Given the description of an element on the screen output the (x, y) to click on. 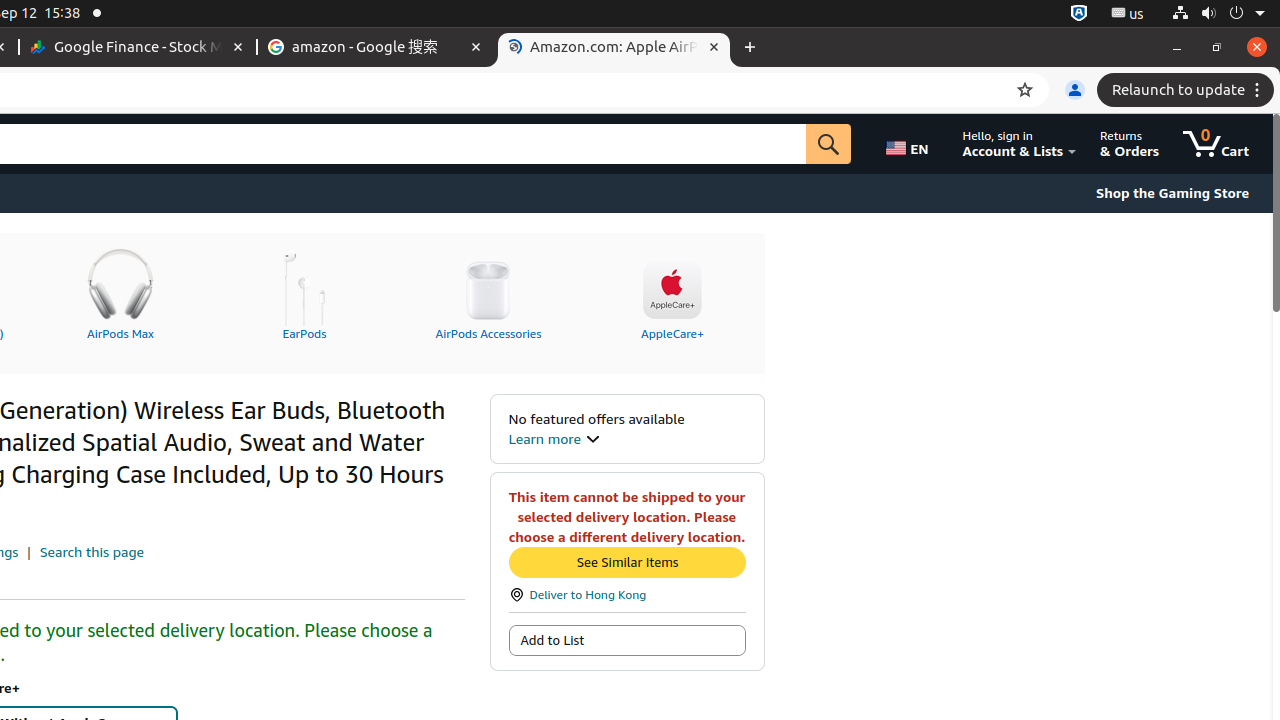
See Similar Items Element type: push-button (627, 562)
Choose a language for shopping. Element type: link (911, 144)
New Tab Element type: push-button (750, 47)
AirPods Max Element type: link (120, 291)
